Given the description of an element on the screen output the (x, y) to click on. 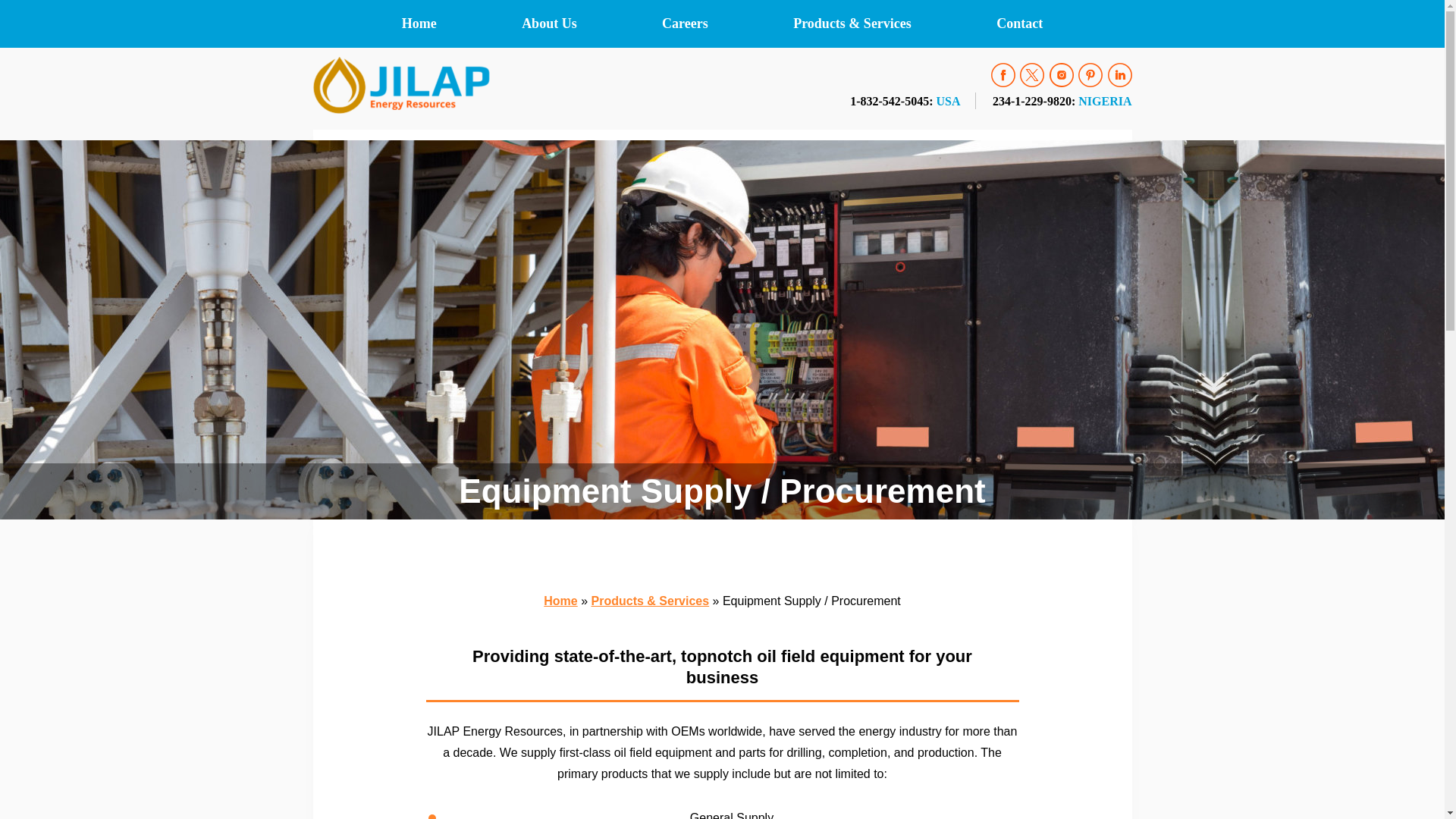
Home (439, 23)
1-832-542-5045 (889, 101)
234-1-229-9820 (1031, 101)
Contact (998, 23)
Careers (685, 23)
Home (559, 600)
About Us (548, 23)
